Given the description of an element on the screen output the (x, y) to click on. 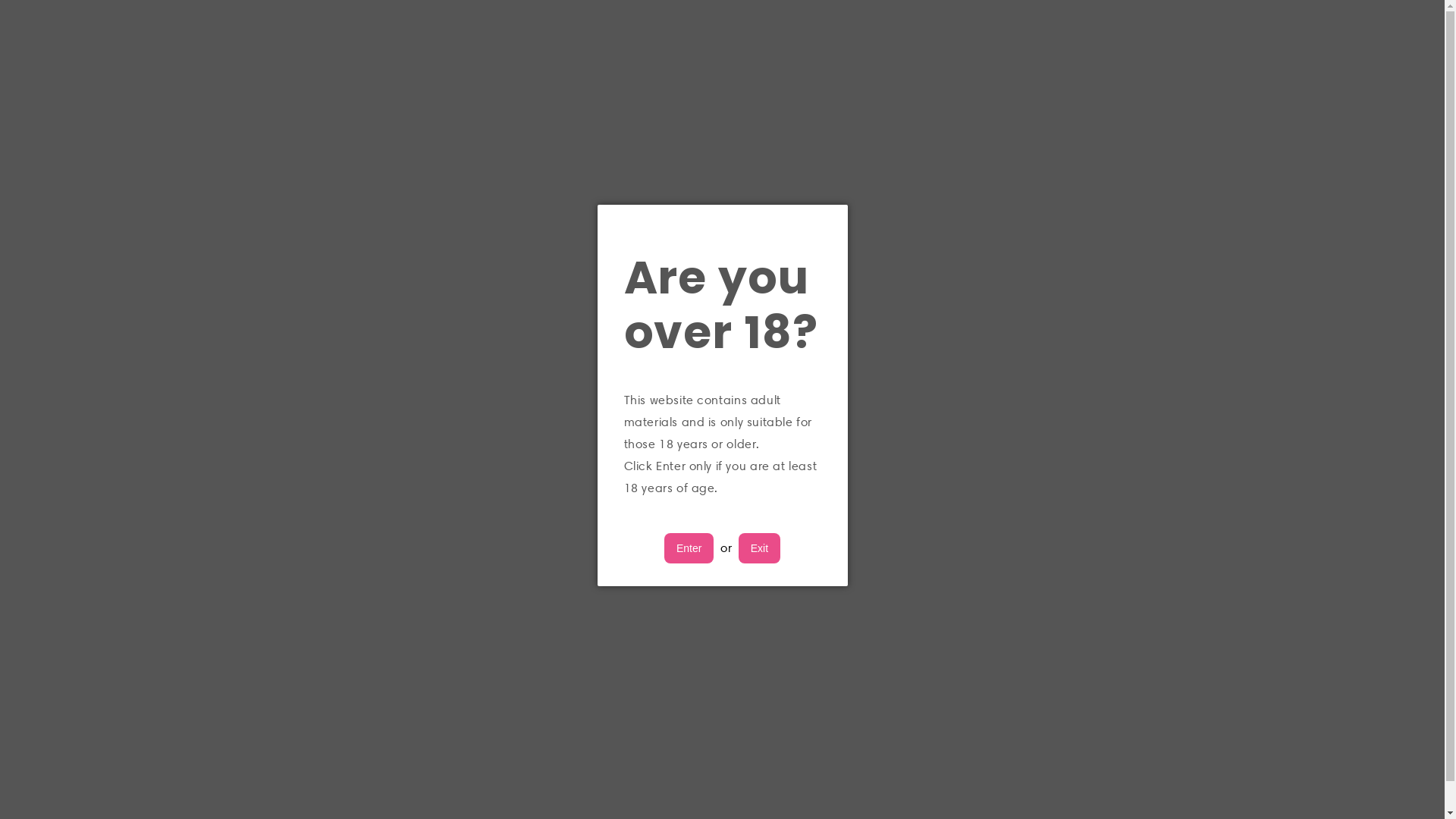
How to use YouPay Element type: text (954, 725)
Contact Us Element type: text (852, 68)
Log in Element type: text (1313, 68)
Reviews Element type: text (617, 583)
Continue shopping Element type: text (721, 355)
Products Element type: text (754, 68)
Home Element type: text (580, 68)
Contact us Element type: text (926, 556)
Help Element type: text (901, 641)
Shipping & Delivery Element type: text (954, 669)
Privacy Policy Element type: text (934, 585)
My Account Element type: text (928, 530)
Cart Element type: text (1362, 68)
Enter Element type: text (688, 548)
About Us Element type: text (661, 68)
Flirts Blog Element type: text (623, 555)
Exit Element type: text (759, 548)
Refunds & Returns Element type: text (952, 697)
Terms & Conditions Element type: text (957, 613)
Flirt In store Parties Element type: text (657, 529)
